Given the description of an element on the screen output the (x, y) to click on. 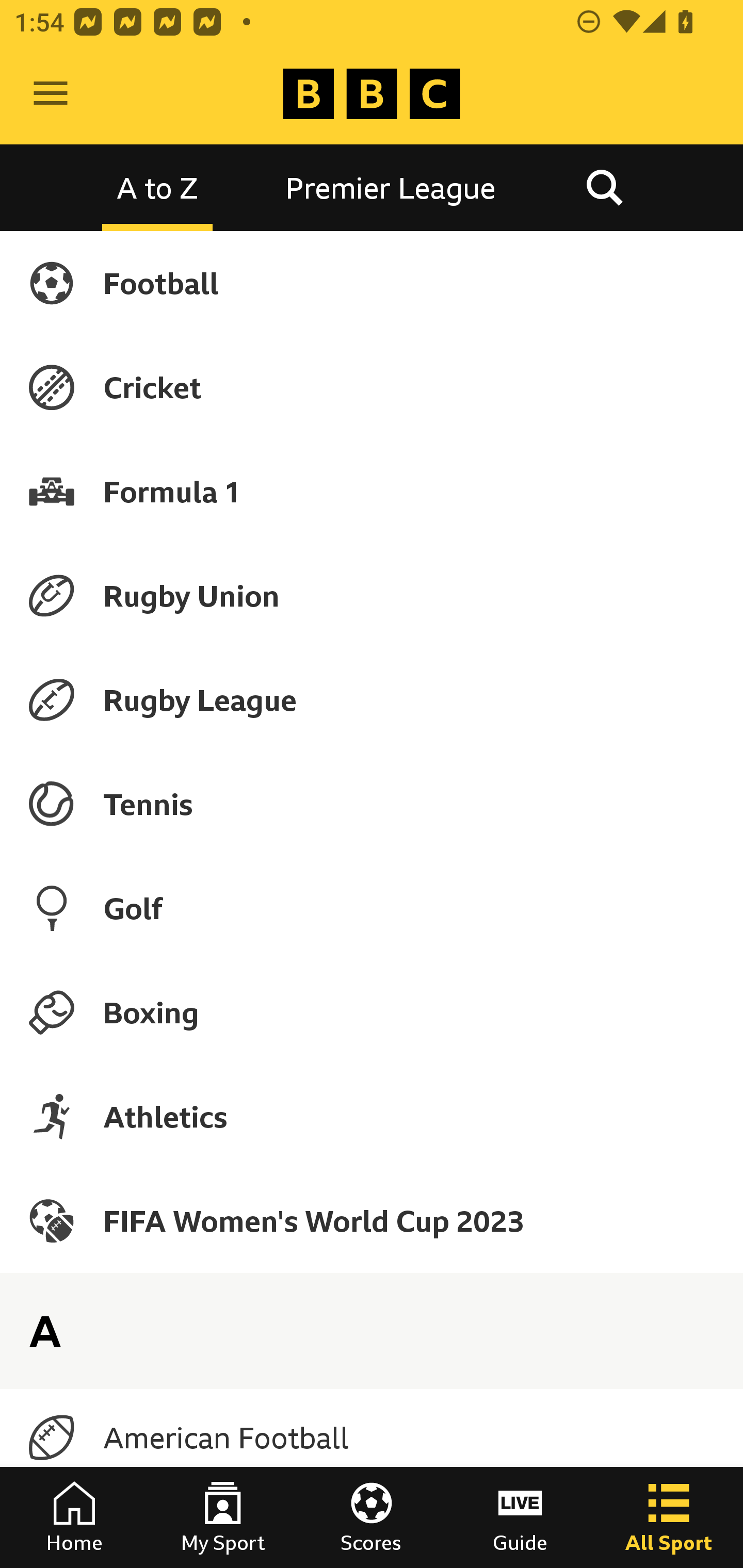
Open Menu (50, 93)
Premier League (390, 187)
Search (604, 187)
Football (371, 282)
Cricket (371, 387)
Formula 1 (371, 491)
Rugby Union (371, 595)
Rugby League (371, 699)
Tennis (371, 804)
Golf (371, 907)
Boxing (371, 1011)
Athletics (371, 1116)
FIFA Women's World Cup 2023 (371, 1220)
American Football (371, 1437)
Home (74, 1517)
My Sport (222, 1517)
Scores (371, 1517)
Guide (519, 1517)
